Given the description of an element on the screen output the (x, y) to click on. 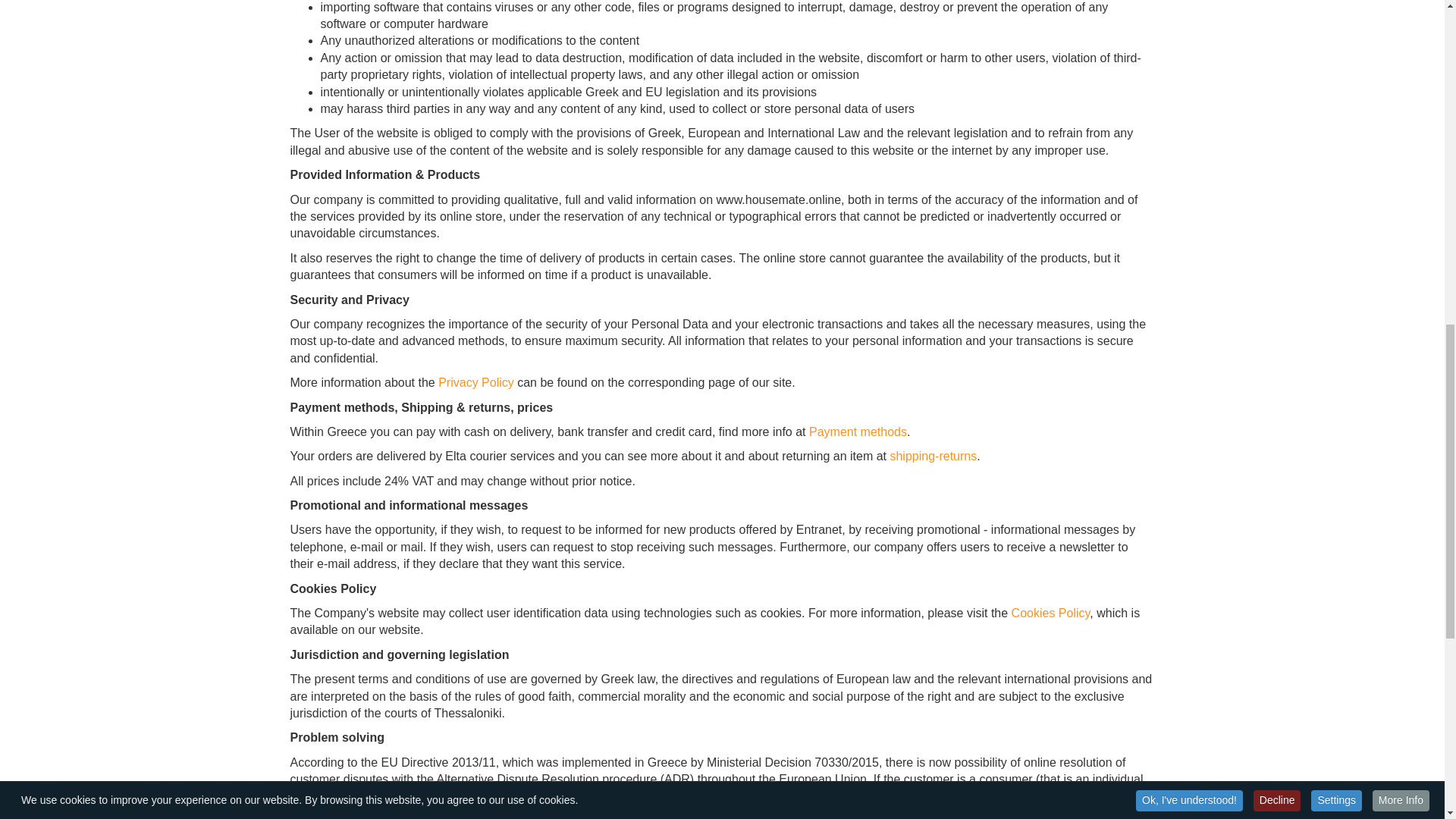
Payment methods (858, 431)
Privacy Policy (475, 382)
Cookies Policy (1050, 612)
shipping-returns (932, 455)
